Given the description of an element on the screen output the (x, y) to click on. 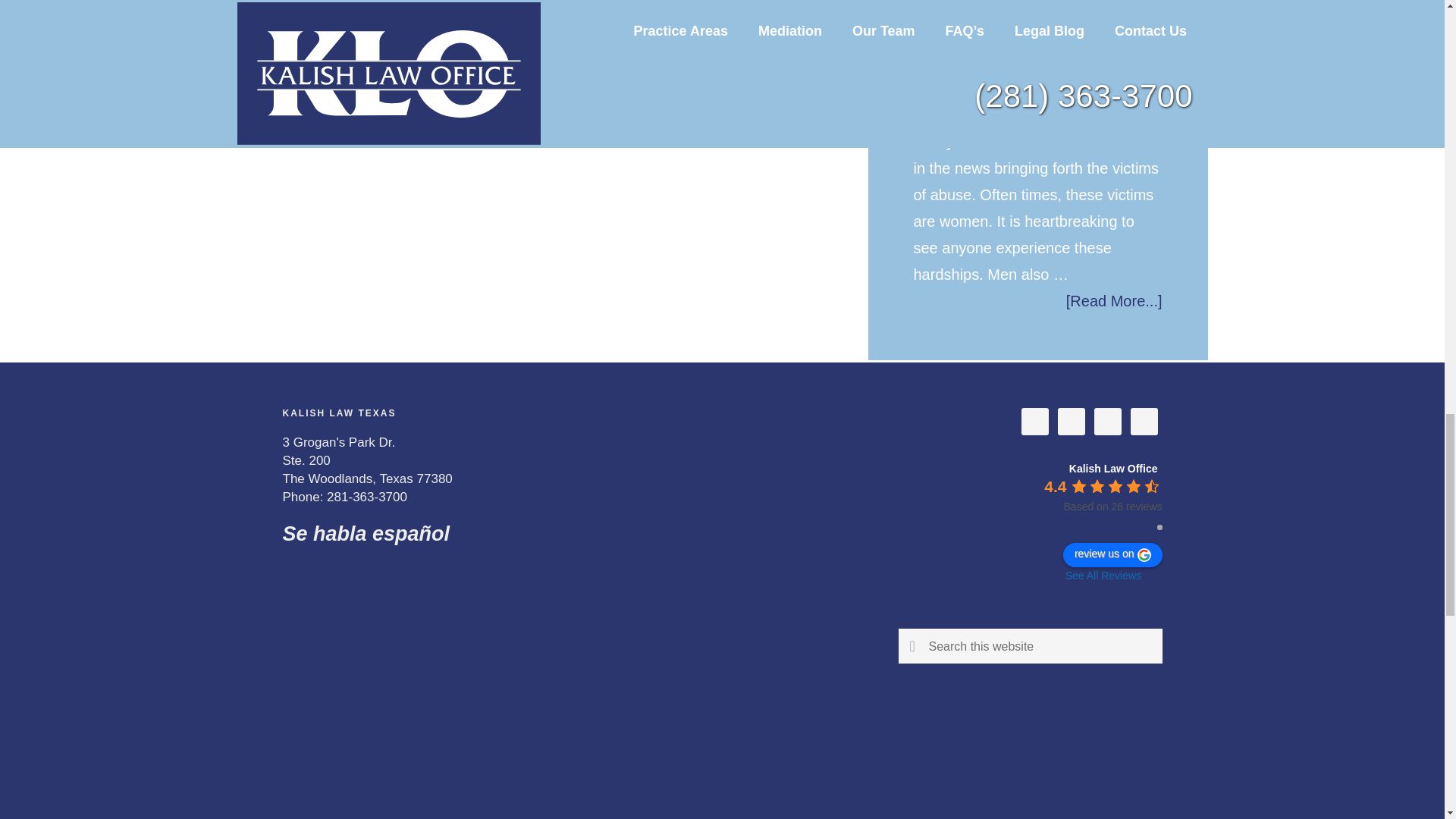
Domestic Abuse and Sexual Abuse Towards Men (1036, 55)
